Given the description of an element on the screen output the (x, y) to click on. 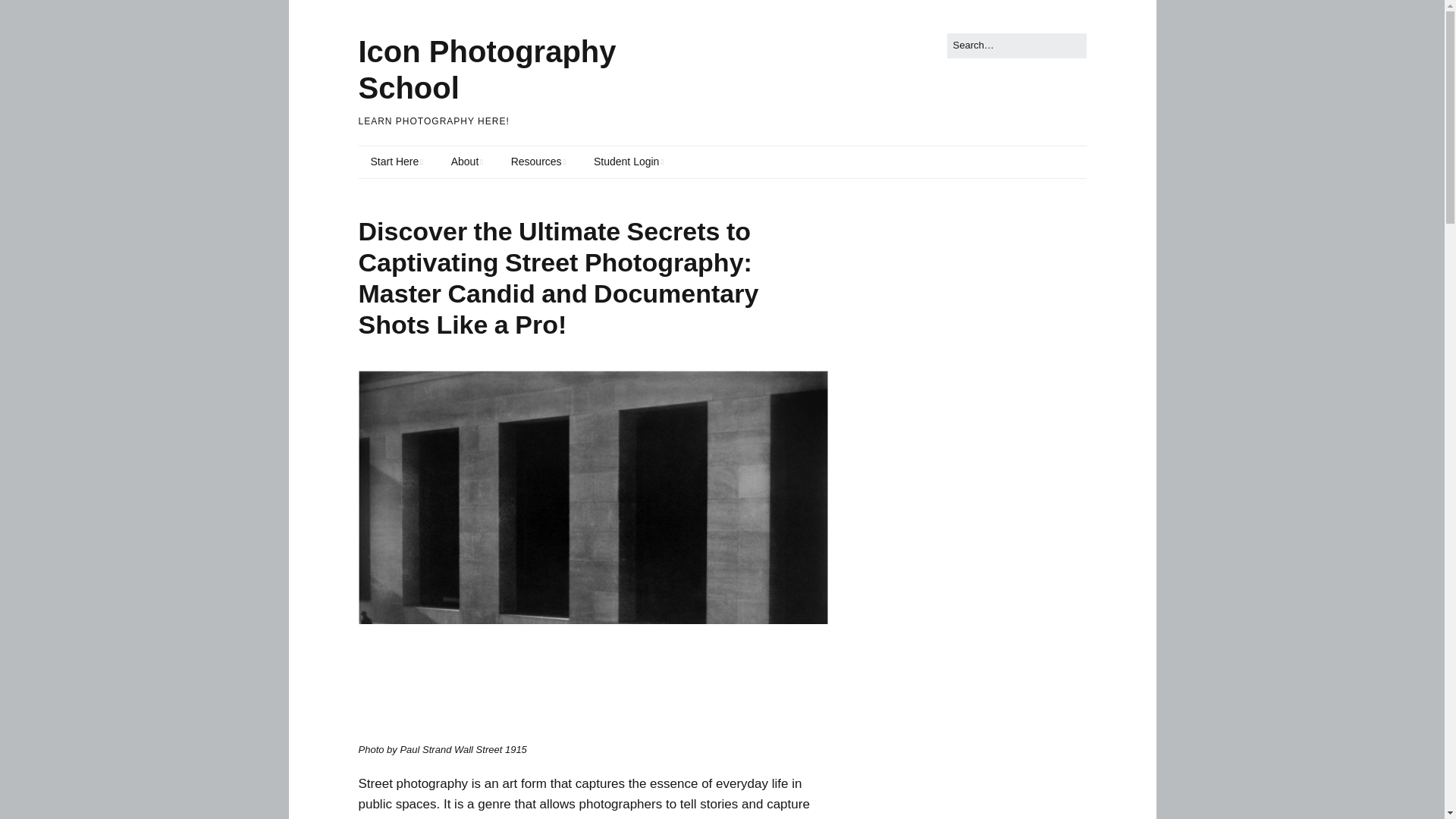
Icon Photography School (486, 69)
Resources (538, 162)
Student Login (627, 162)
Start Here (395, 162)
Search (29, 15)
About (467, 162)
Press Enter to submit your search (1016, 45)
Advertisement (992, 439)
